Given the description of an element on the screen output the (x, y) to click on. 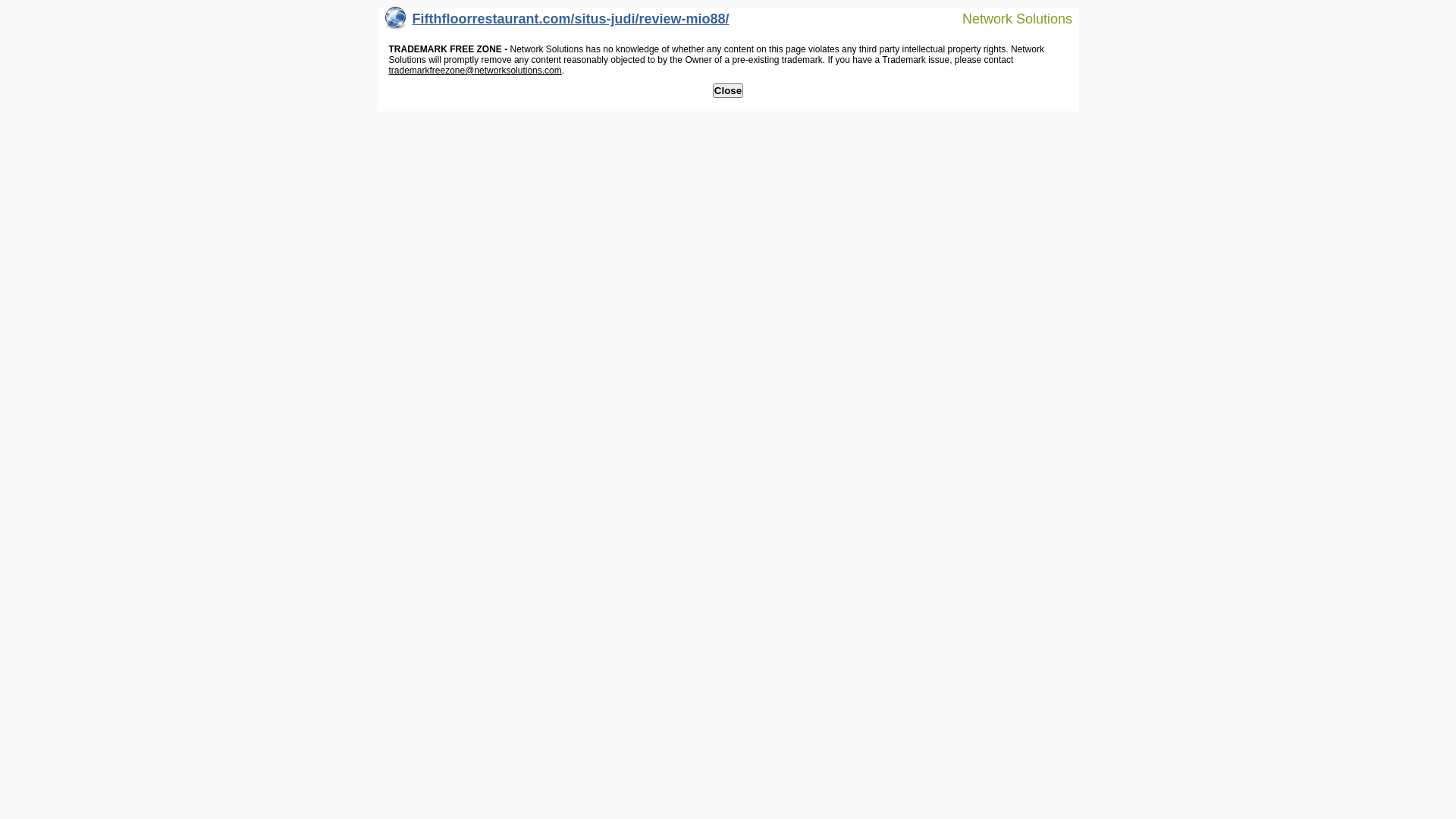
Network Solutions Element type: text (1007, 17)
Close Element type: text (727, 90)
trademarkfreezone@networksolutions.com Element type: text (474, 70)
Fifthfloorrestaurant.com/situs-judi/review-mio88/ Element type: text (557, 21)
